Given the description of an element on the screen output the (x, y) to click on. 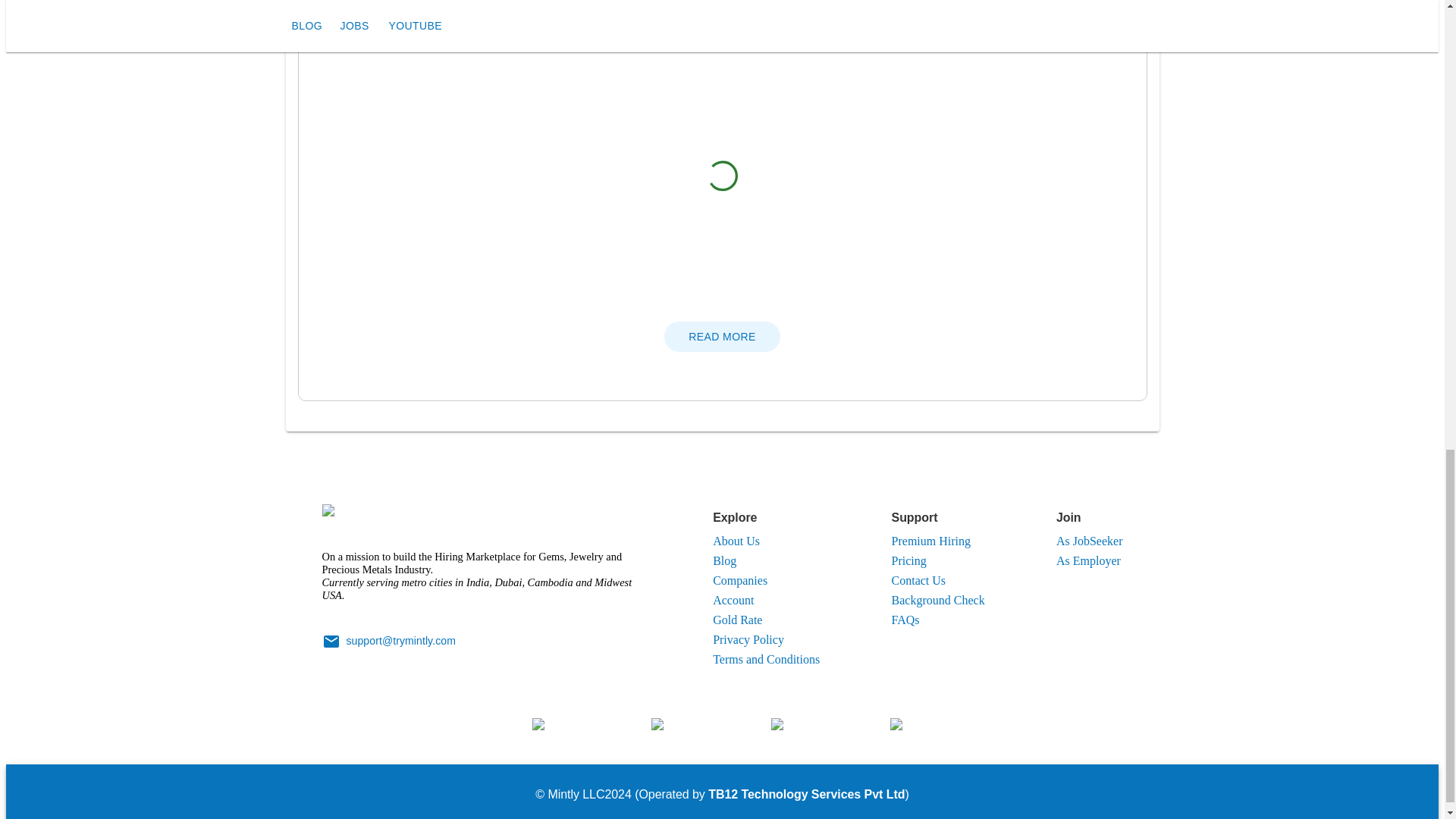
Privacy Policy (748, 639)
Background Check (938, 599)
Account (733, 599)
Terms and Conditions (766, 658)
Pricing (908, 560)
As Employer (1089, 560)
Companies (740, 580)
Companies (740, 580)
Terms and Conditions (766, 658)
Premium Hiring (931, 540)
